Given the description of an element on the screen output the (x, y) to click on. 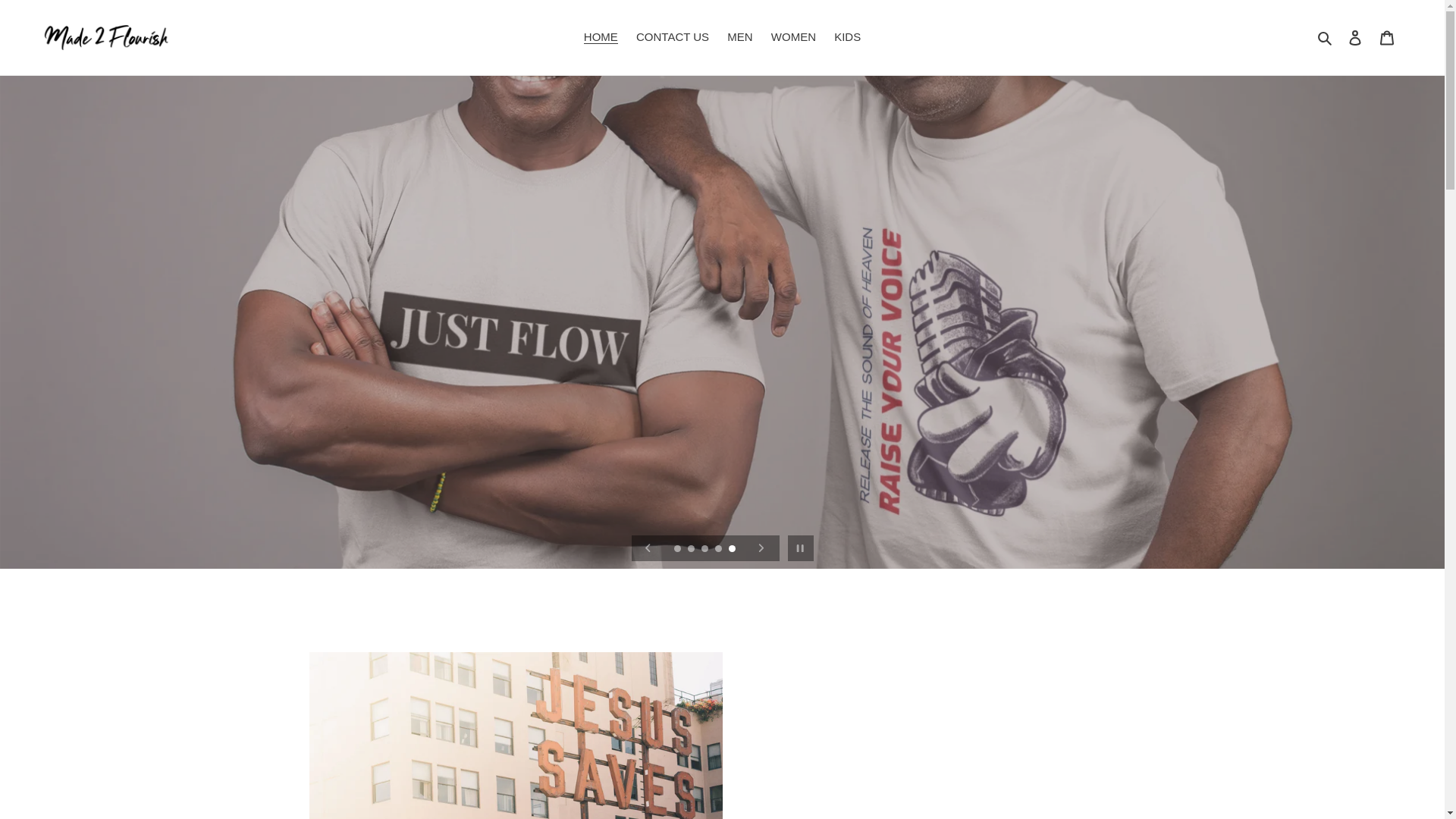
MEN (739, 37)
Pause slideshow (800, 548)
CONTACT US (672, 37)
Search (1326, 36)
Cart (1387, 37)
KIDS (847, 37)
WOMEN (793, 37)
HOME (601, 37)
Log in (1355, 37)
